Given the description of an element on the screen output the (x, y) to click on. 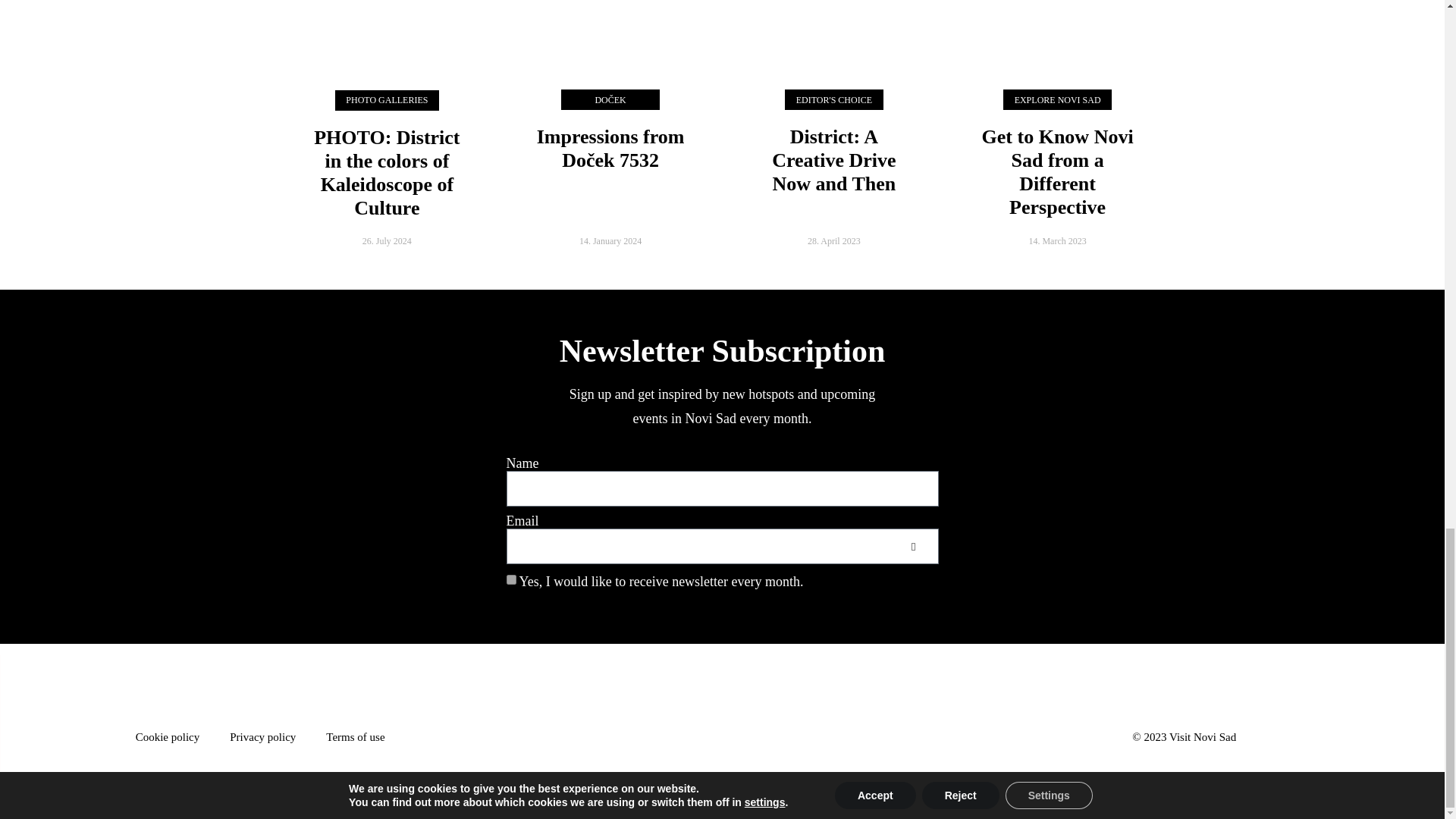
Yes, I would like to receive newsletter every month. (511, 579)
